Given the description of an element on the screen output the (x, y) to click on. 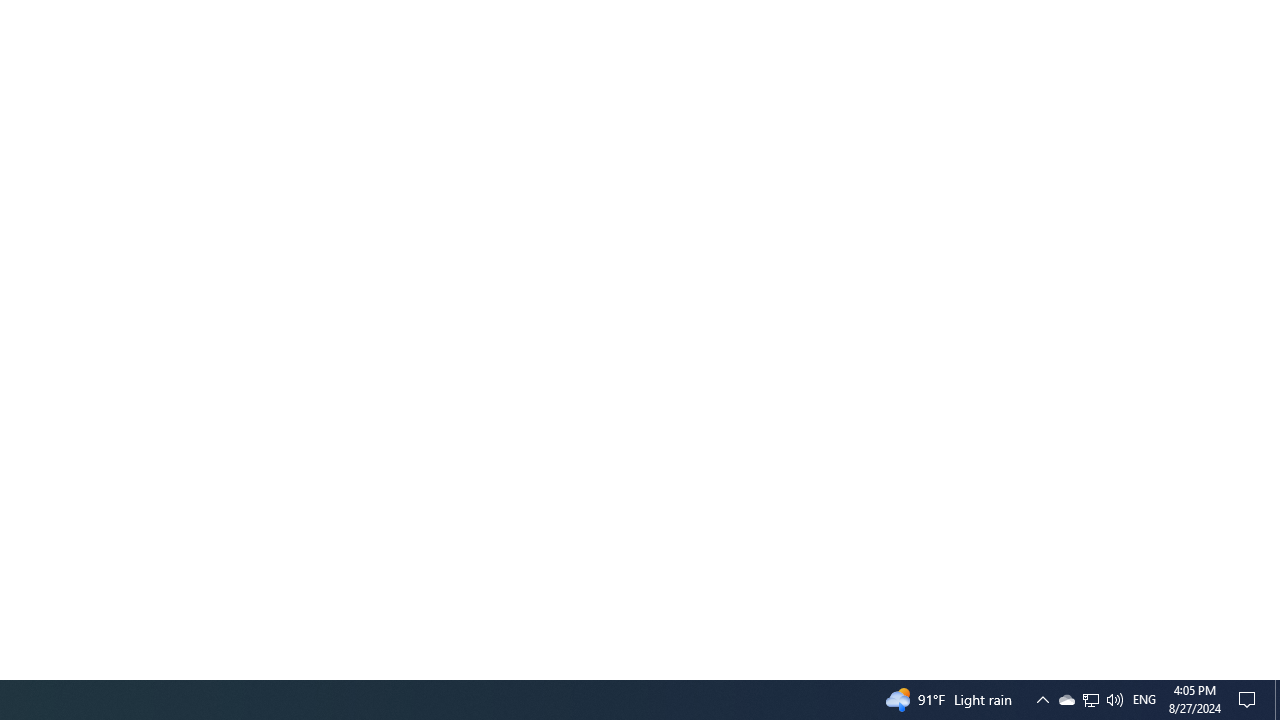
Show desktop (1277, 699)
Q2790: 100% (1091, 699)
Action Center, No new notifications (1066, 699)
Tray Input Indicator - English (United States) (1114, 699)
User Promoted Notification Area (1250, 699)
Notification Chevron (1144, 699)
